Given the description of an element on the screen output the (x, y) to click on. 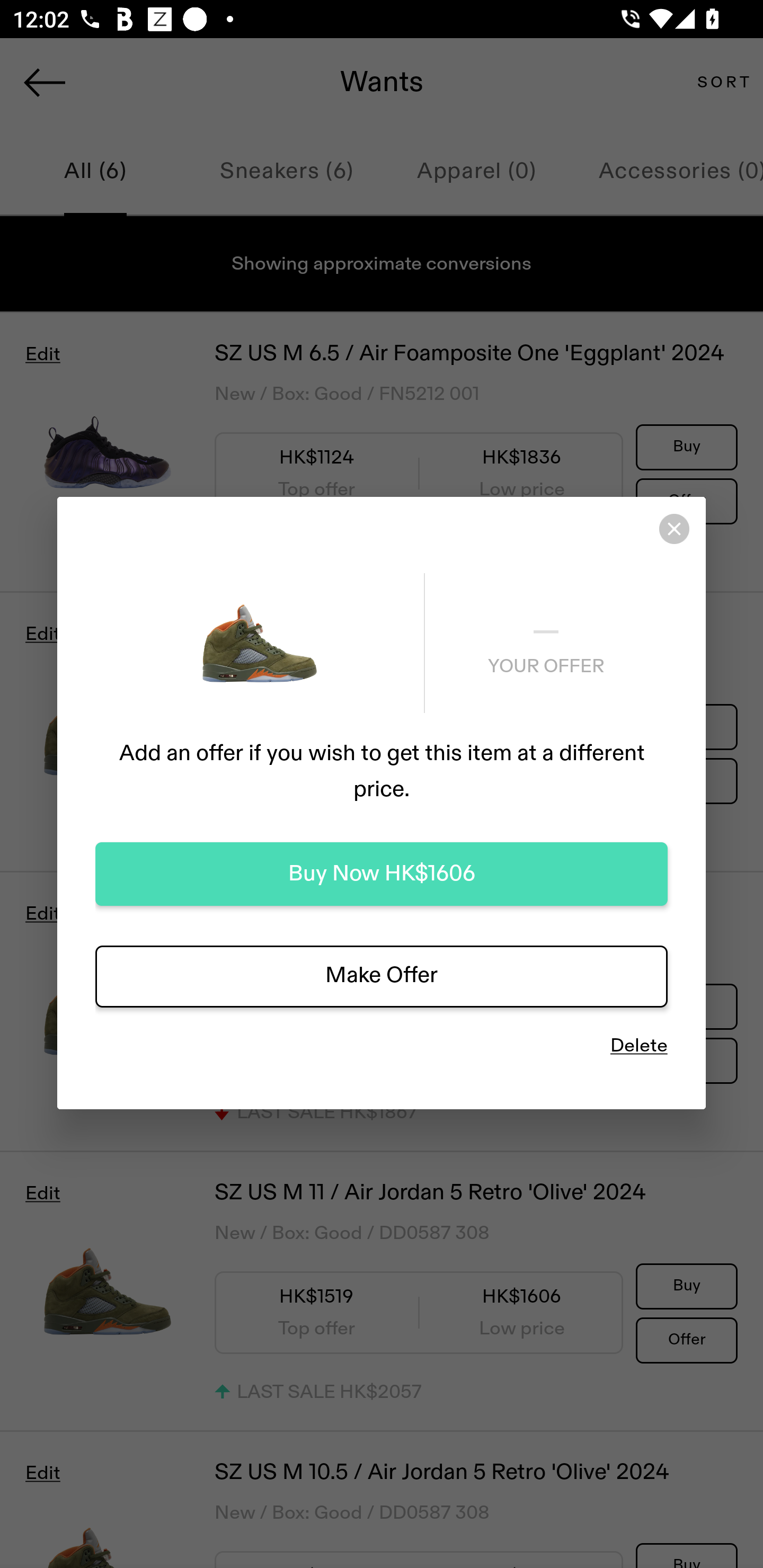
Buy Now HK$1606 (381, 874)
Make Offer (381, 975)
Delete (638, 1045)
